Given the description of an element on the screen output the (x, y) to click on. 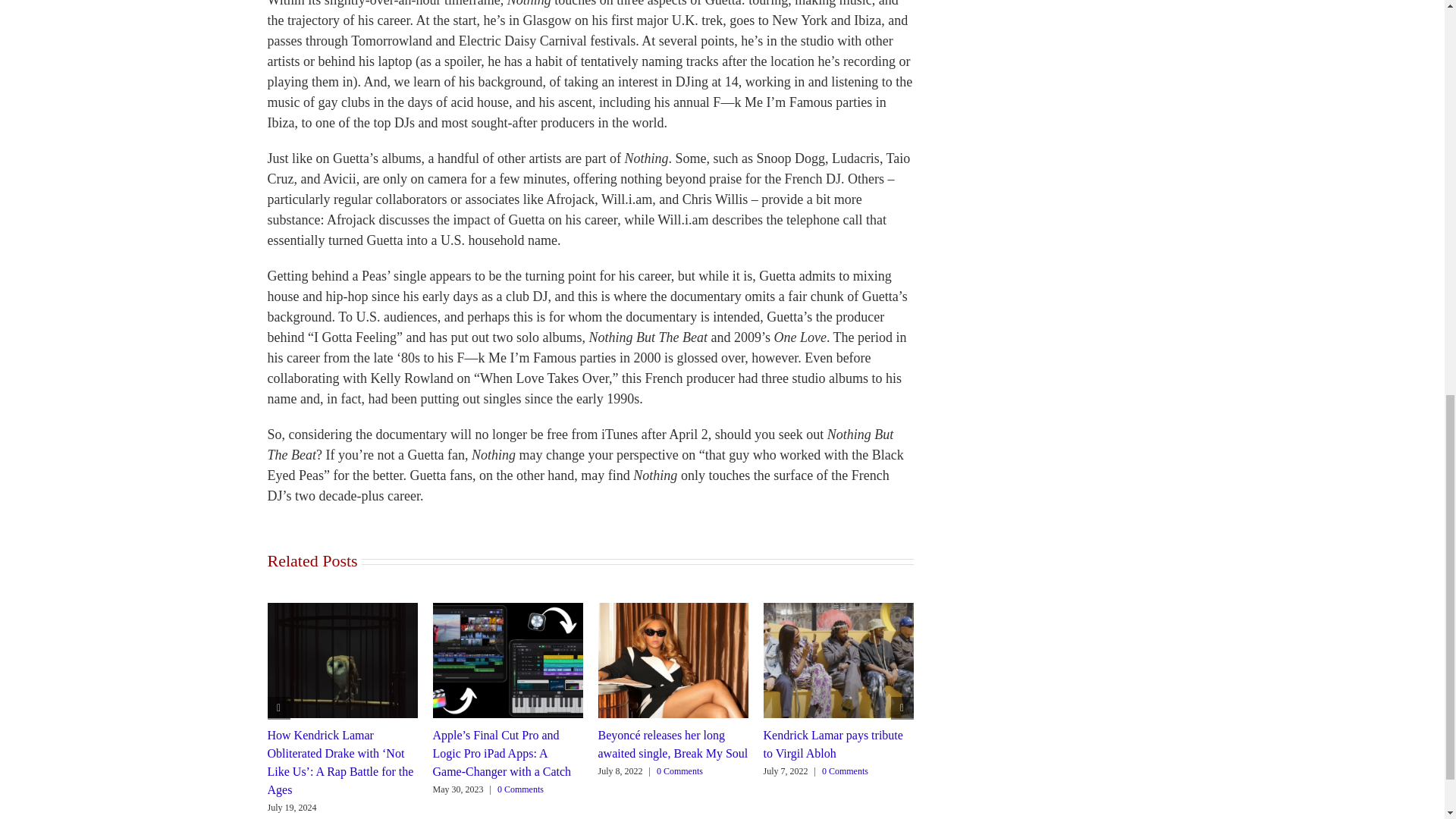
0 Comments (679, 770)
0 Comments (520, 788)
Kendrick Lamar pays tribute to Virgil Abloh (832, 744)
Kendrick Lamar pays tribute to Virgil Abloh (832, 744)
0 Comments (844, 770)
